Given the description of an element on the screen output the (x, y) to click on. 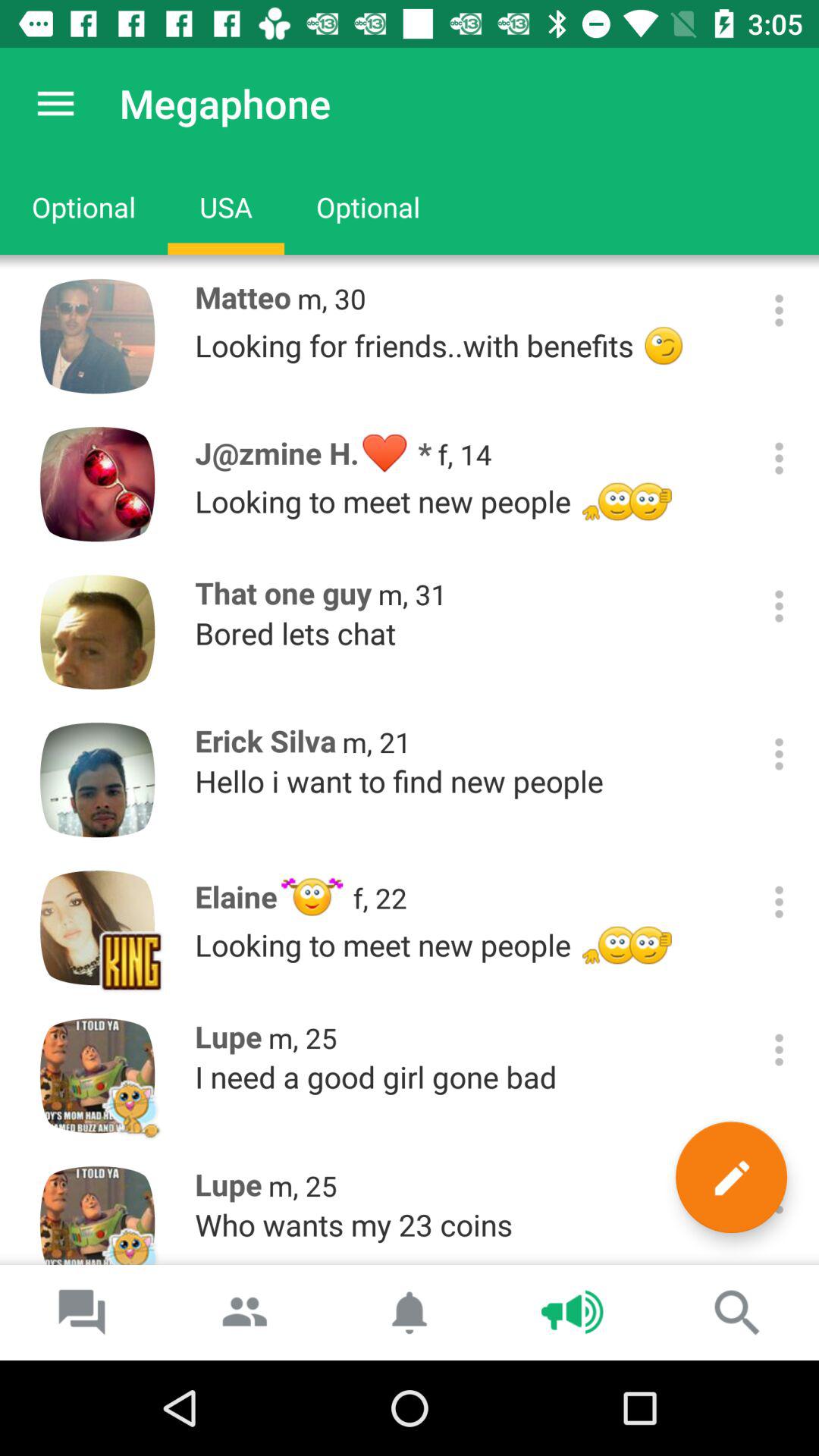
select more option (779, 1049)
